Given the description of an element on the screen output the (x, y) to click on. 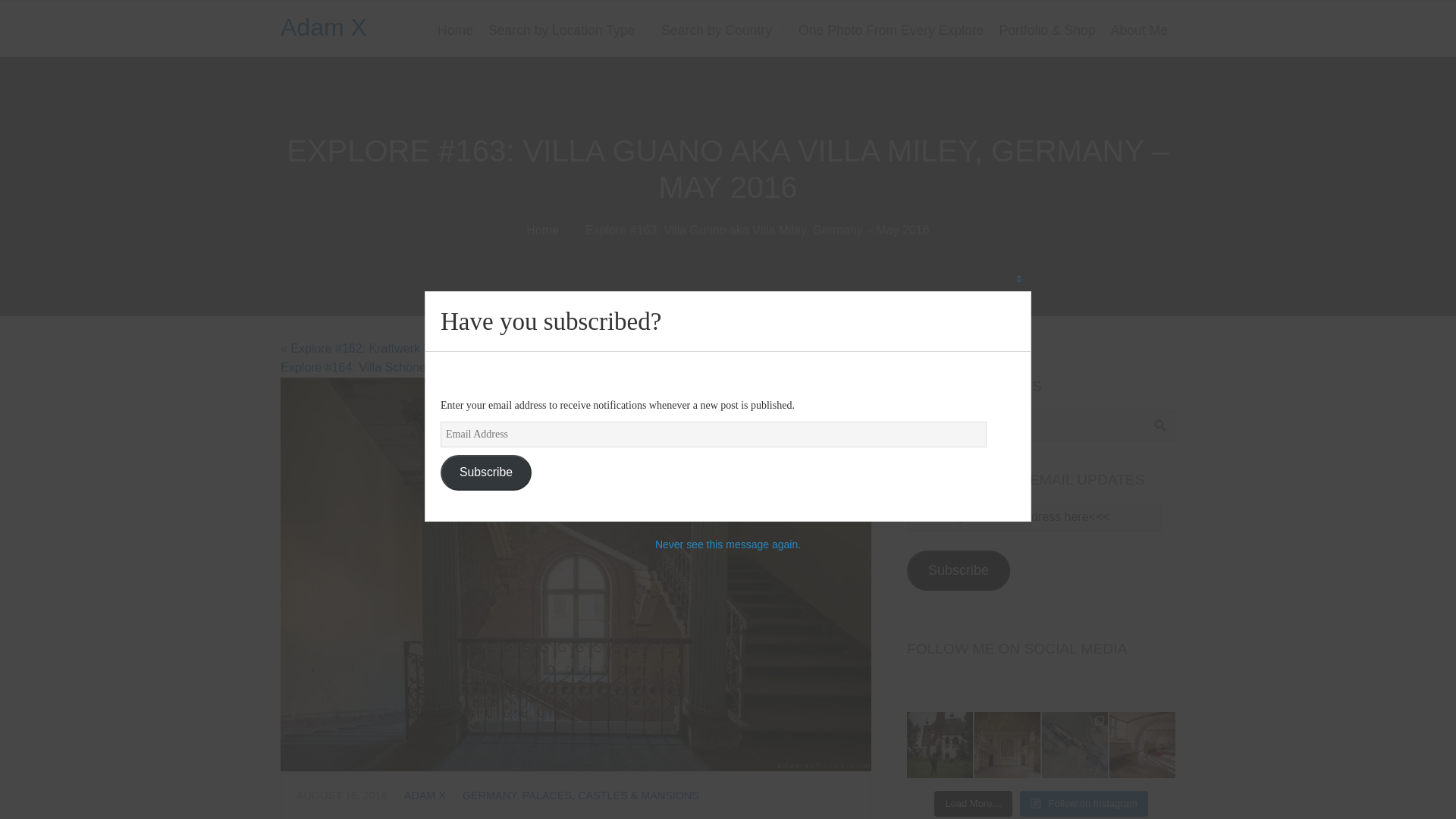
About Me (1138, 30)
Home (454, 30)
View all posts by Adam X (424, 795)
Adam X (323, 26)
Search by Location Type (566, 30)
Search by Country (721, 30)
One Photo From Every Explore (890, 30)
